Given the description of an element on the screen output the (x, y) to click on. 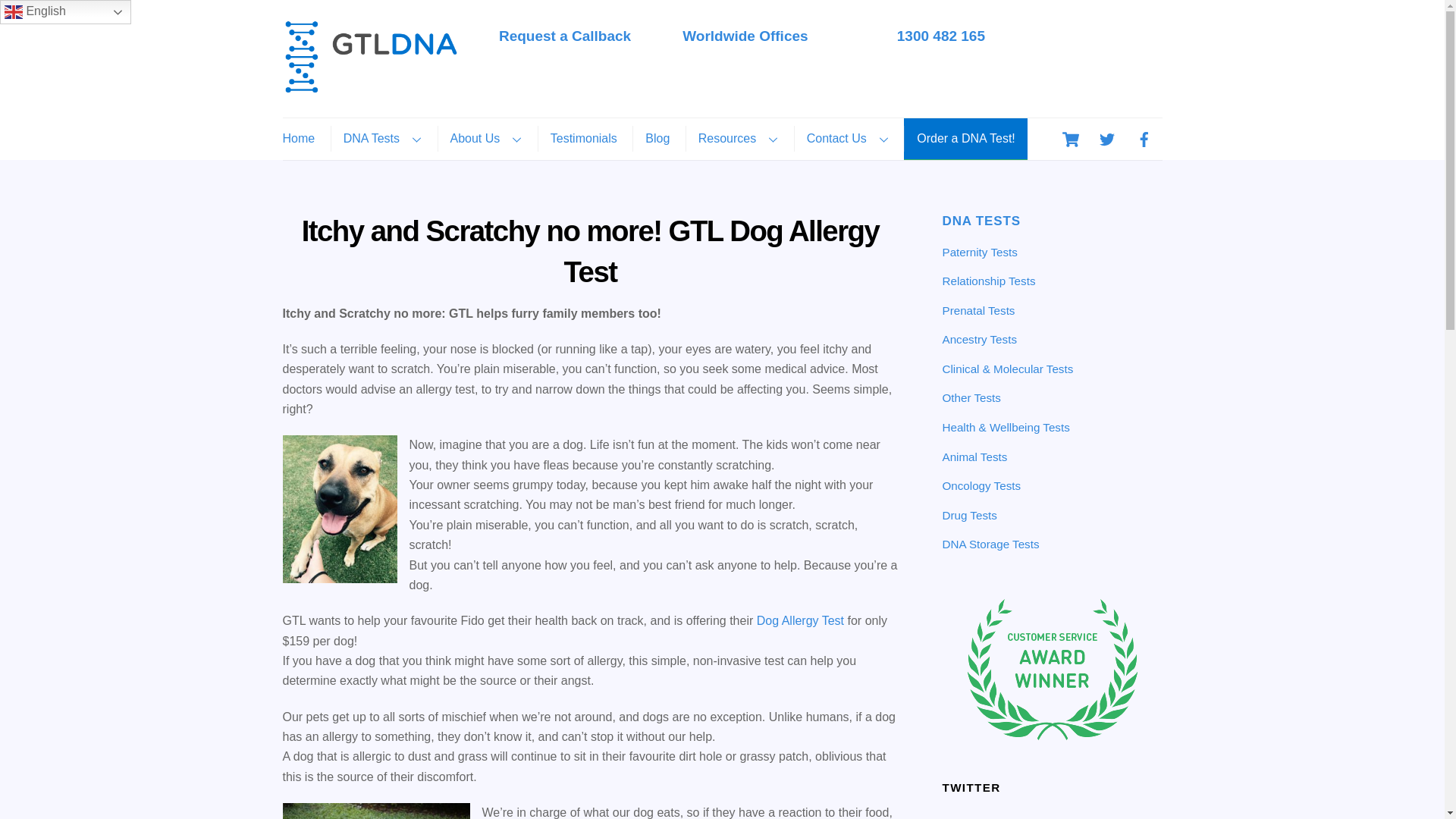
GTLDNA AU (370, 86)
Home (304, 138)
Cart (1070, 139)
gtldna-logo-dark-CROPPED (370, 56)
DNA Tests (818, 40)
